Given the description of an element on the screen output the (x, y) to click on. 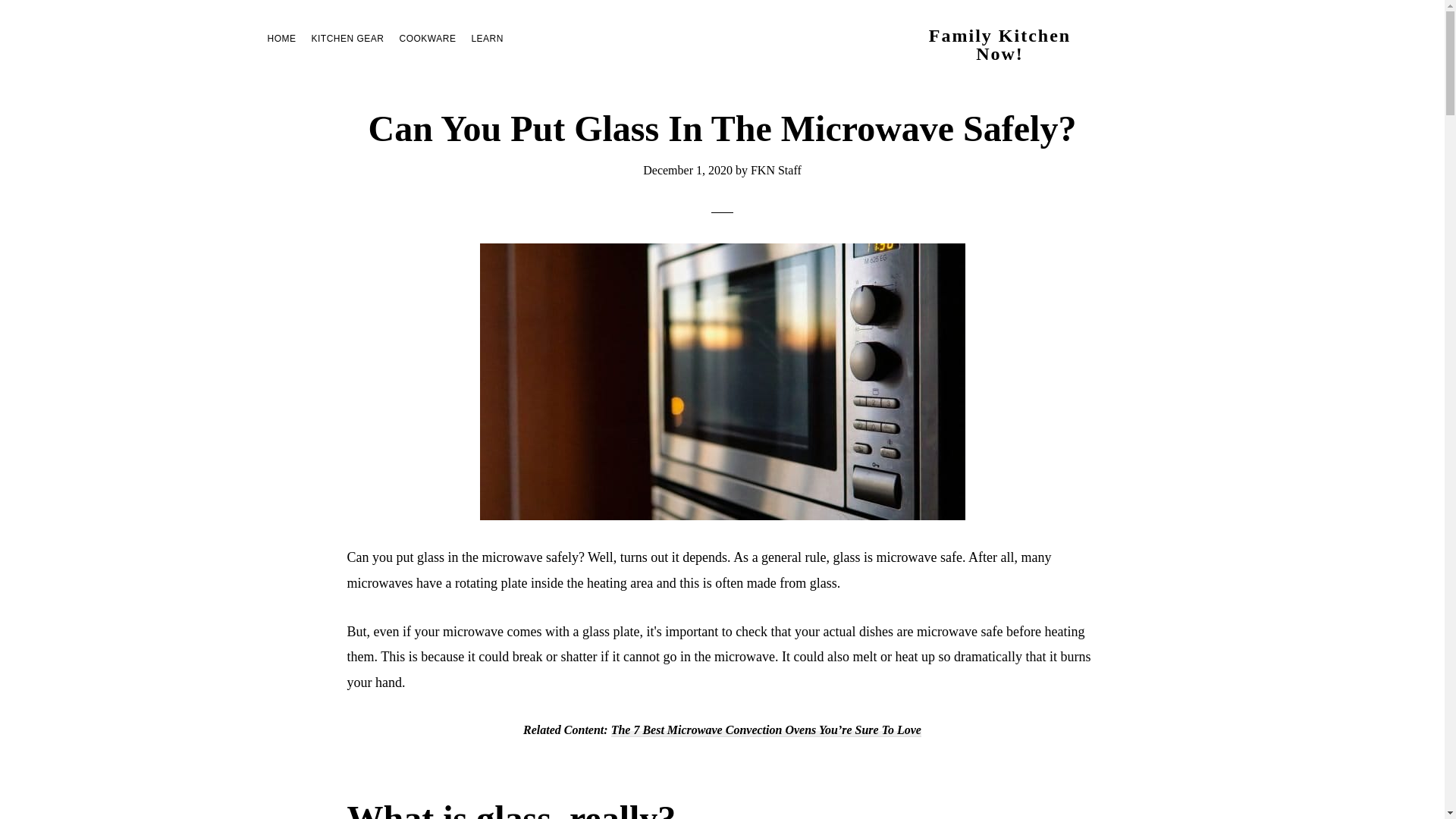
KITCHEN GEAR (346, 37)
HOME (280, 37)
LEARN (487, 37)
Family Kitchen Now! (999, 44)
COOKWARE (427, 37)
